Given the description of an element on the screen output the (x, y) to click on. 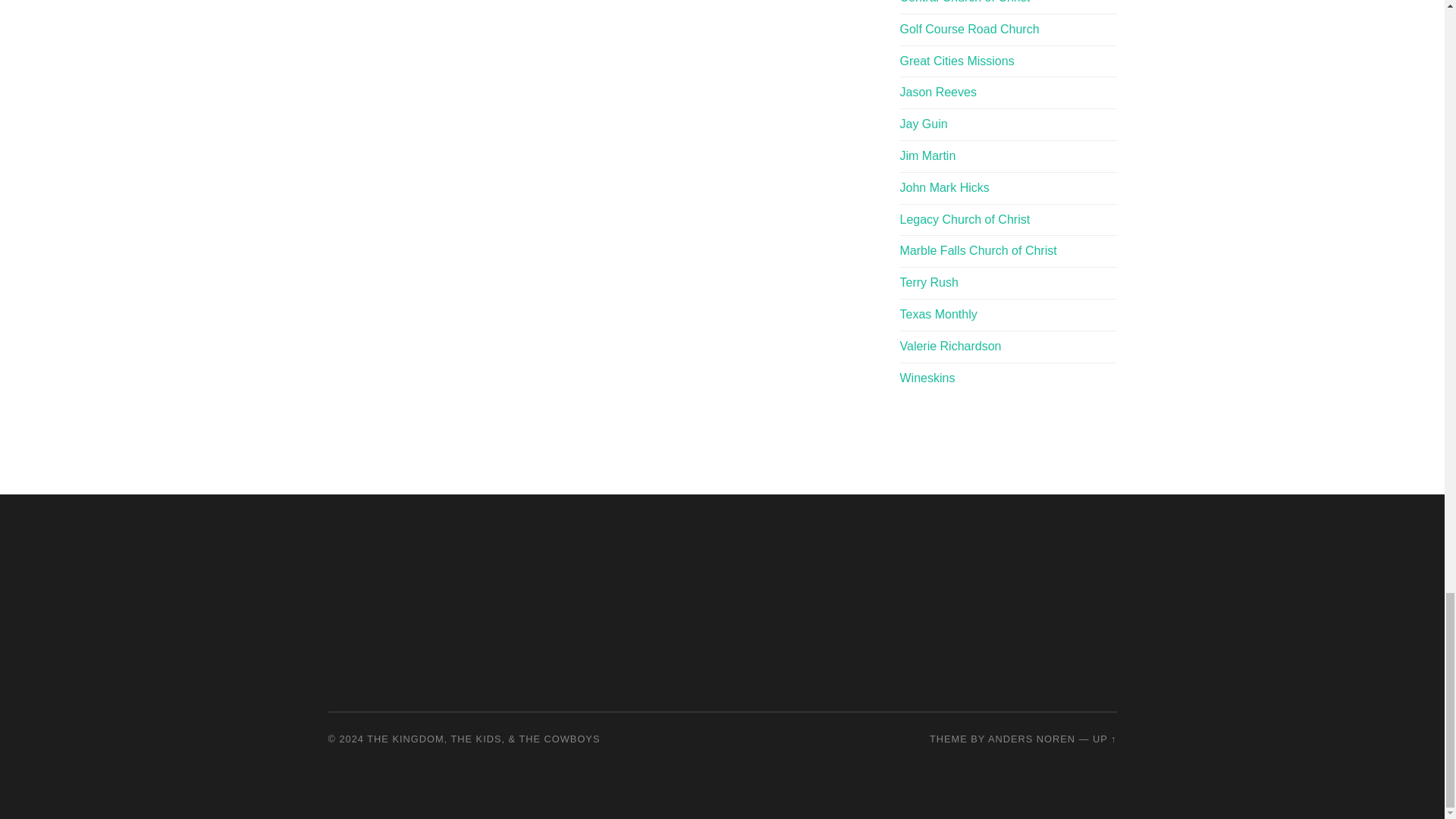
Equipping and Encouraging Missionaries and Church Planters (956, 60)
John Mark Hicks Ministries (943, 187)
God Hungry (927, 155)
One in Jesus (923, 123)
Central Church of Christ in Amarillo, Texas (964, 2)
Legacy Church of Christ in North Richland Hills, Texas (964, 219)
GCR Church (969, 29)
